Given the description of an element on the screen output the (x, y) to click on. 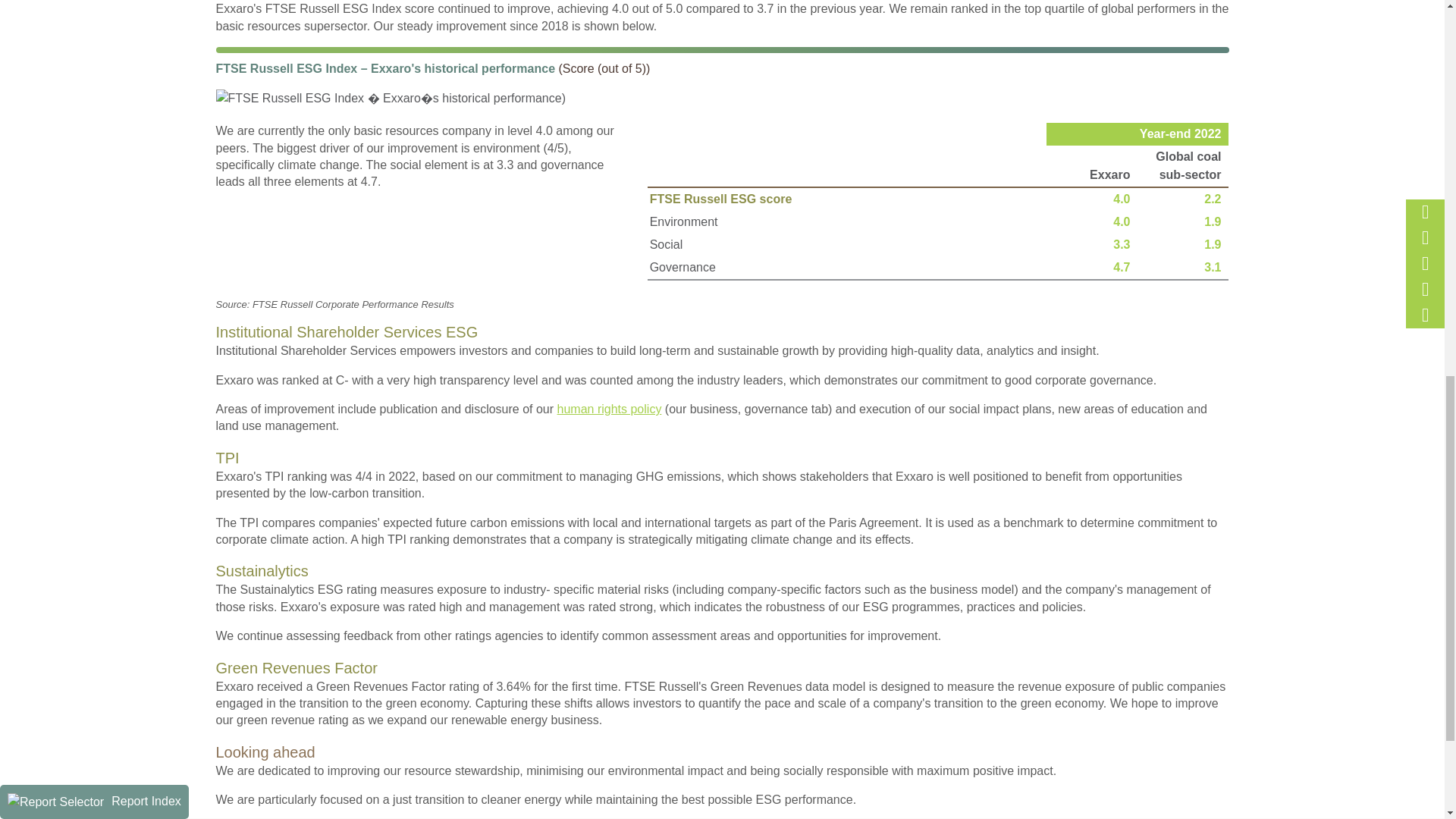
on (521, 336)
measuring-our-performance.pdf (220, 261)
water-security-management.pdf (220, 428)
Overview.pdf (220, 133)
biodiversity.pdf (220, 464)
Environment.pdf (220, 355)
on (521, 114)
Transitioning-into-a-low-carbon-business.pdf (220, 243)
waste-management.pdf (220, 446)
environmental-liabilities-and-rehabilitation.pdf (220, 482)
Our-ESG-perspective.pdf (220, 225)
stakeholder-management.pdf (220, 297)
Driving-transition-through-leadership.pdf (220, 152)
energy-management.pdf (220, 410)
climate-change-resilience.pdf (220, 391)
